Given the description of an element on the screen output the (x, y) to click on. 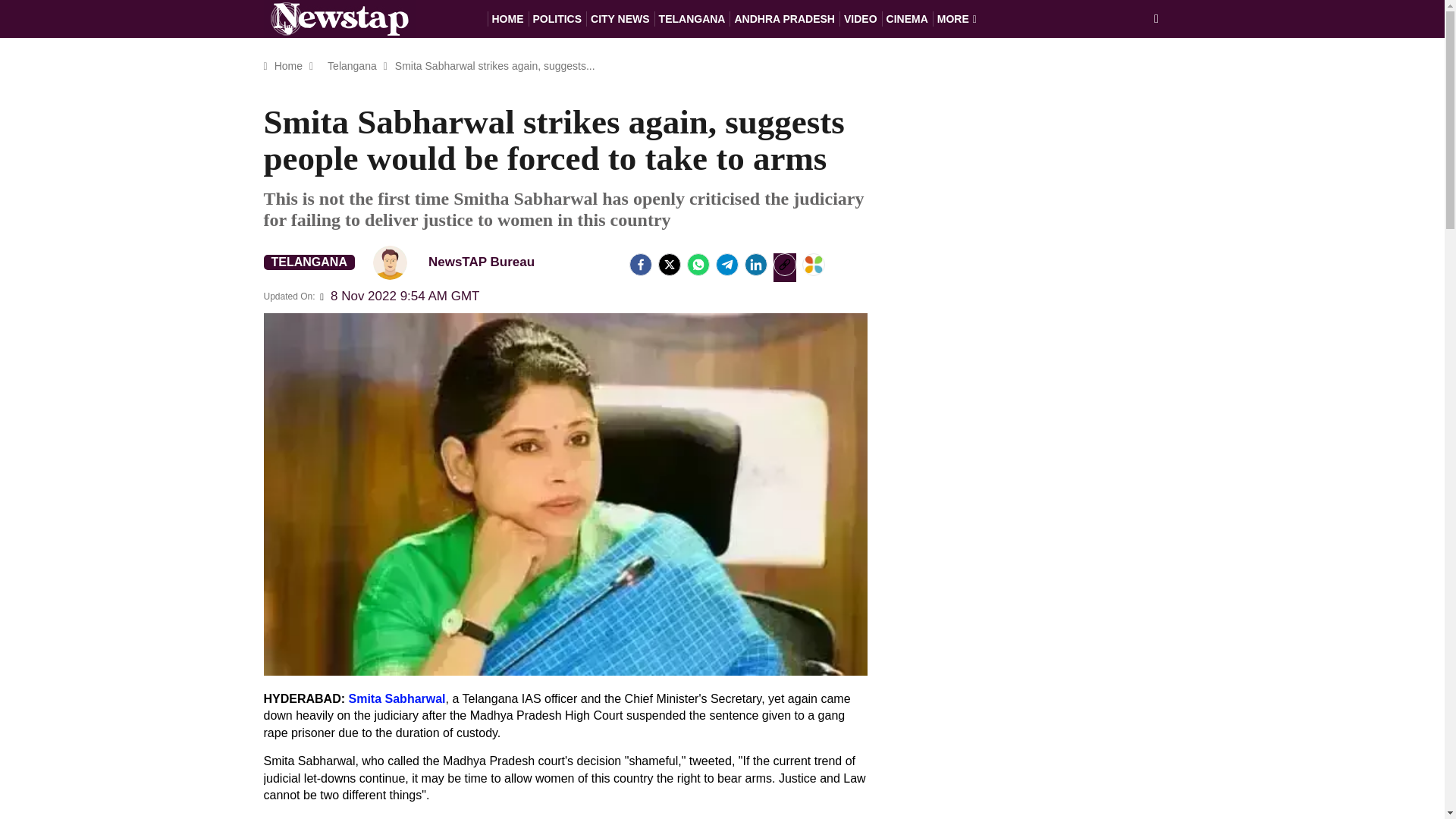
ANDHRA PRADESH (784, 18)
POLITICS (556, 18)
Home (287, 65)
TELANGANA (309, 262)
NewsTAP Bureau (389, 262)
TELANGANA (691, 18)
CITY NEWS (619, 18)
LinkedIn (755, 264)
Telangana (352, 65)
CINEMA (907, 18)
HOME (506, 18)
VIDEO (861, 18)
MORE (957, 18)
NewsTAP Bureau (460, 261)
